Given the description of an element on the screen output the (x, y) to click on. 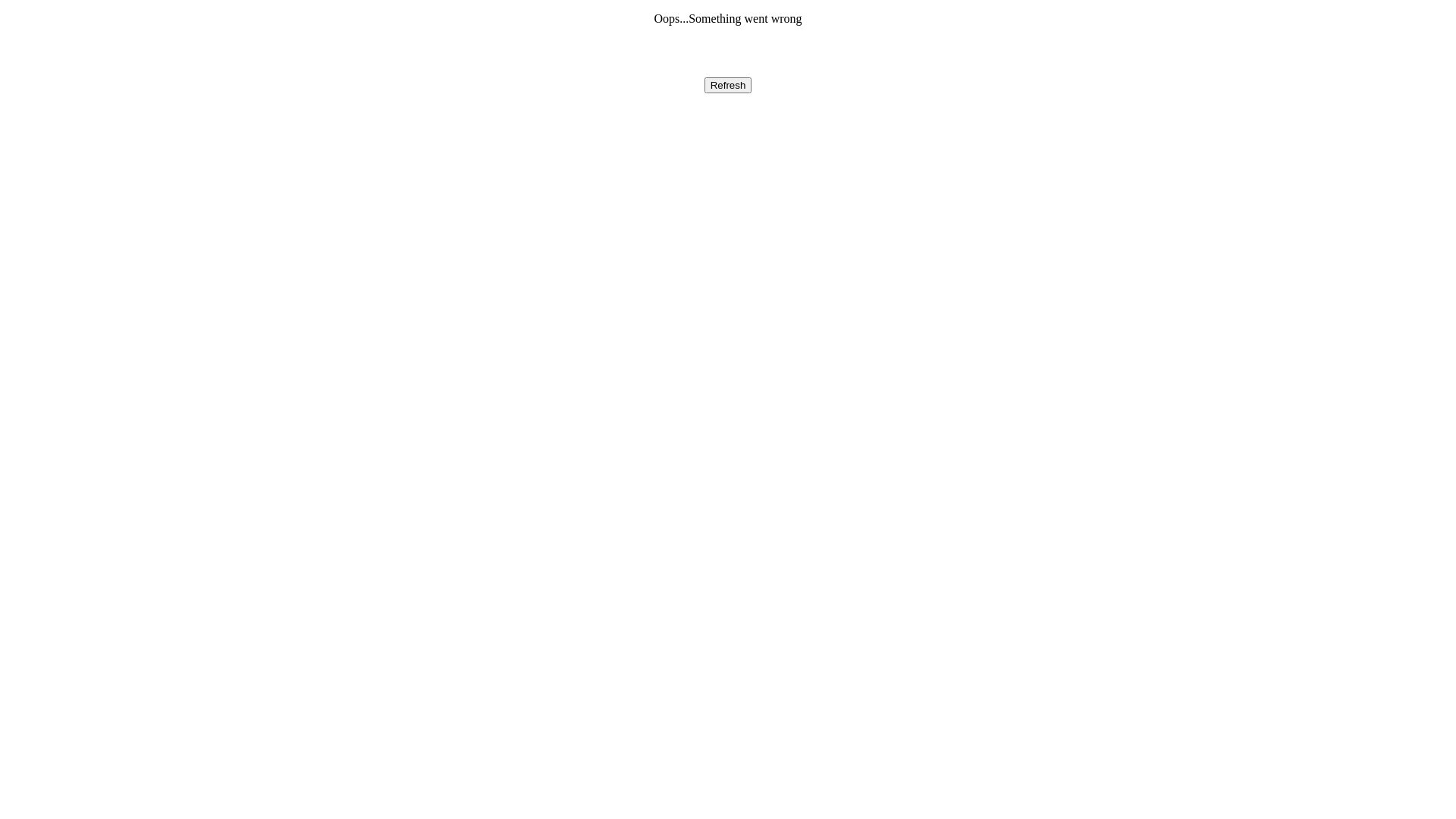
Refresh Element type: text (728, 85)
